Given the description of an element on the screen output the (x, y) to click on. 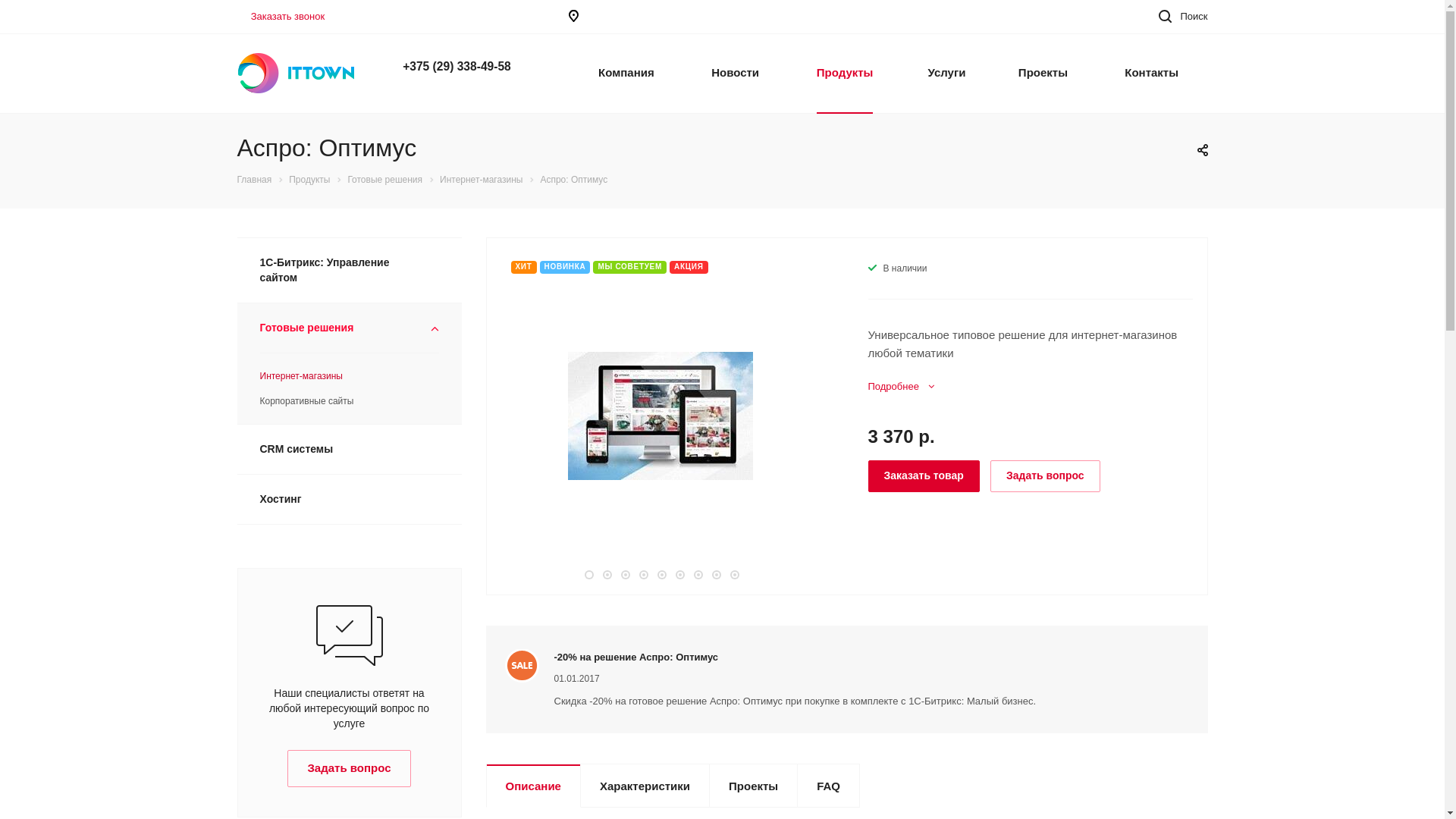
1 Element type: text (588, 574)
2 Element type: text (606, 574)
8 Element type: text (715, 574)
9 Element type: text (734, 574)
4 Element type: text (643, 574)
FAQ Element type: text (828, 785)
5 Element type: text (661, 574)
7 Element type: text (697, 574)
6 Element type: text (679, 574)
3 Element type: text (624, 574)
